Given the description of an element on the screen output the (x, y) to click on. 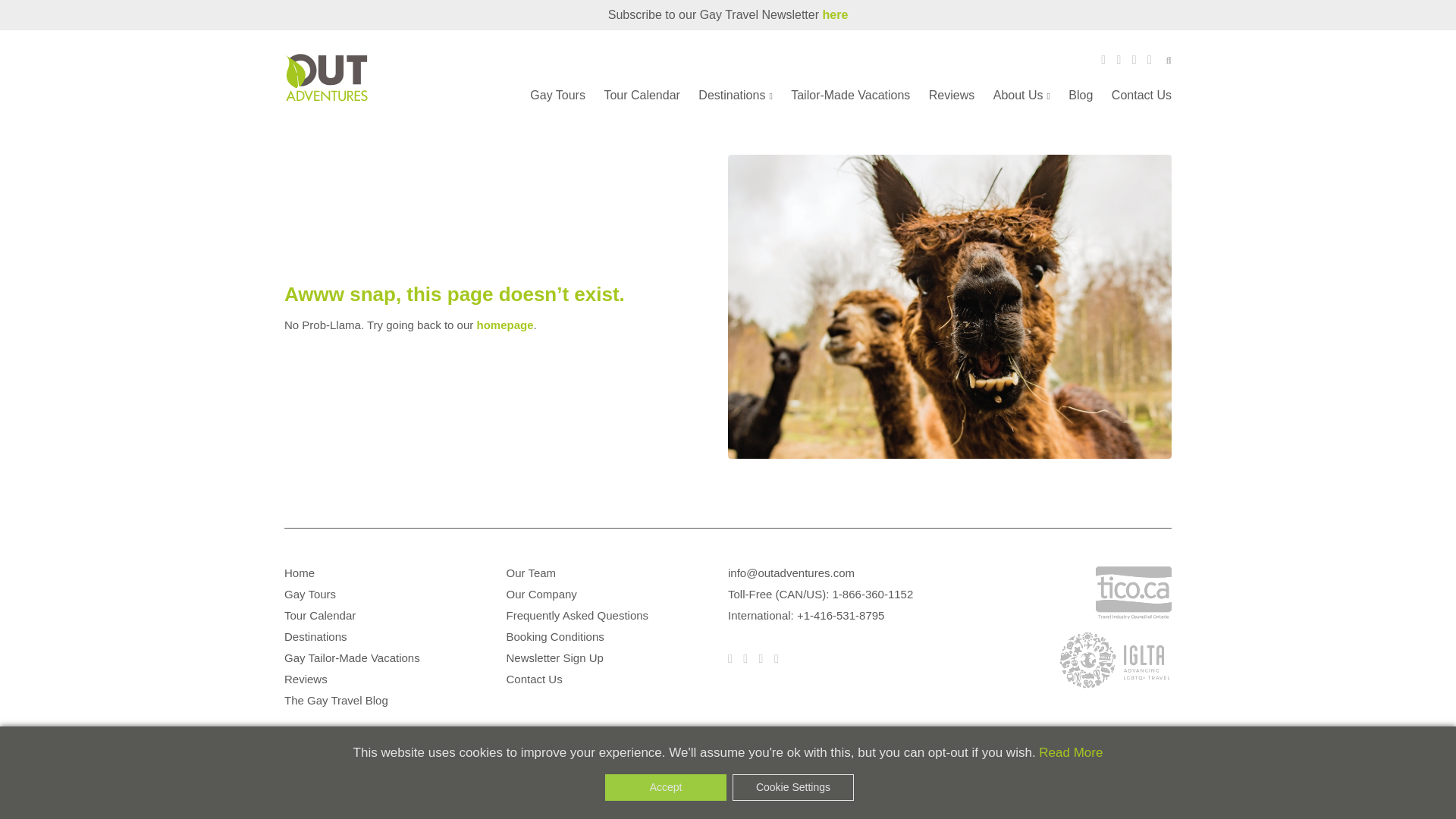
here (834, 14)
Tour Calendar (641, 94)
Contact Us (1142, 94)
Blog (1080, 94)
Destinations (734, 94)
Tailor-Made Vacations (850, 94)
Gay Tours (557, 94)
Reviews (951, 94)
About Us (1020, 94)
